Given the description of an element on the screen output the (x, y) to click on. 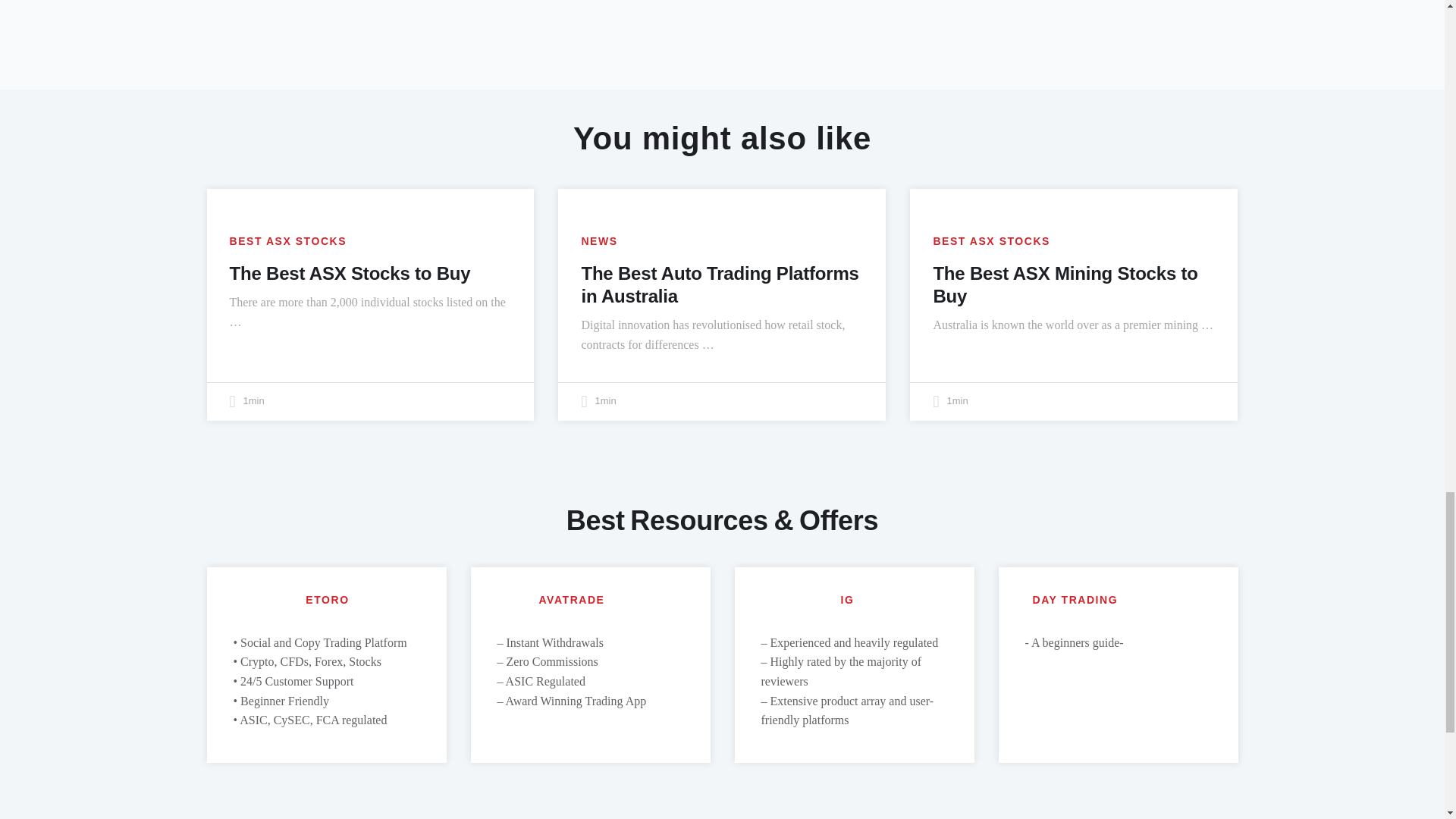
The Best ASX Mining Stocks to Buy (1064, 284)
NEWS (598, 241)
BEST ASX STOCKS (287, 241)
The Best Auto Trading Platforms in Australia (719, 284)
The Best ASX Stocks to Buy (349, 272)
BEST ASX STOCKS (991, 241)
